Given the description of an element on the screen output the (x, y) to click on. 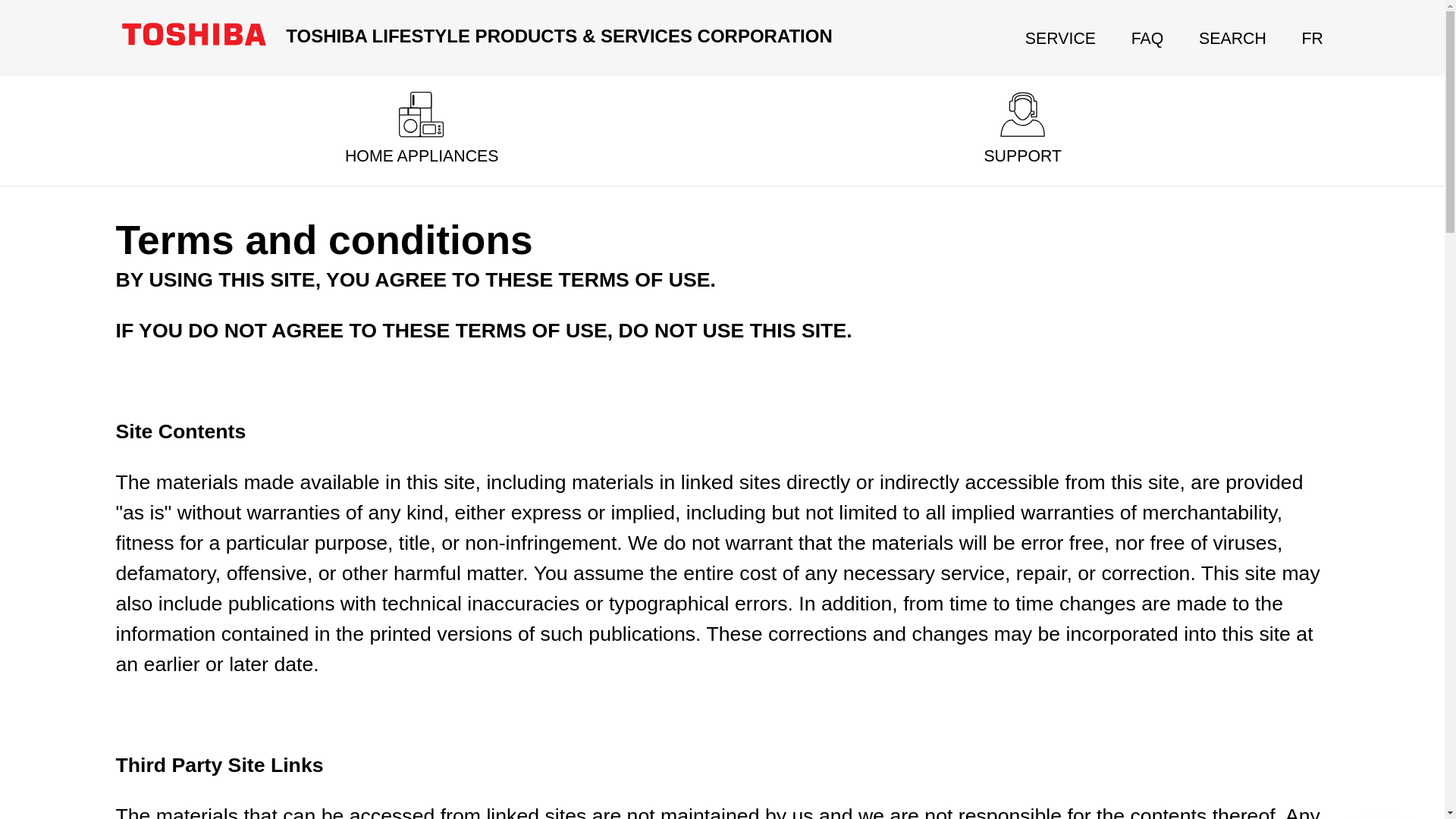
FAQ (1147, 38)
FR (1312, 38)
SEARCH (1232, 38)
SERVICE (1060, 38)
